Given the description of an element on the screen output the (x, y) to click on. 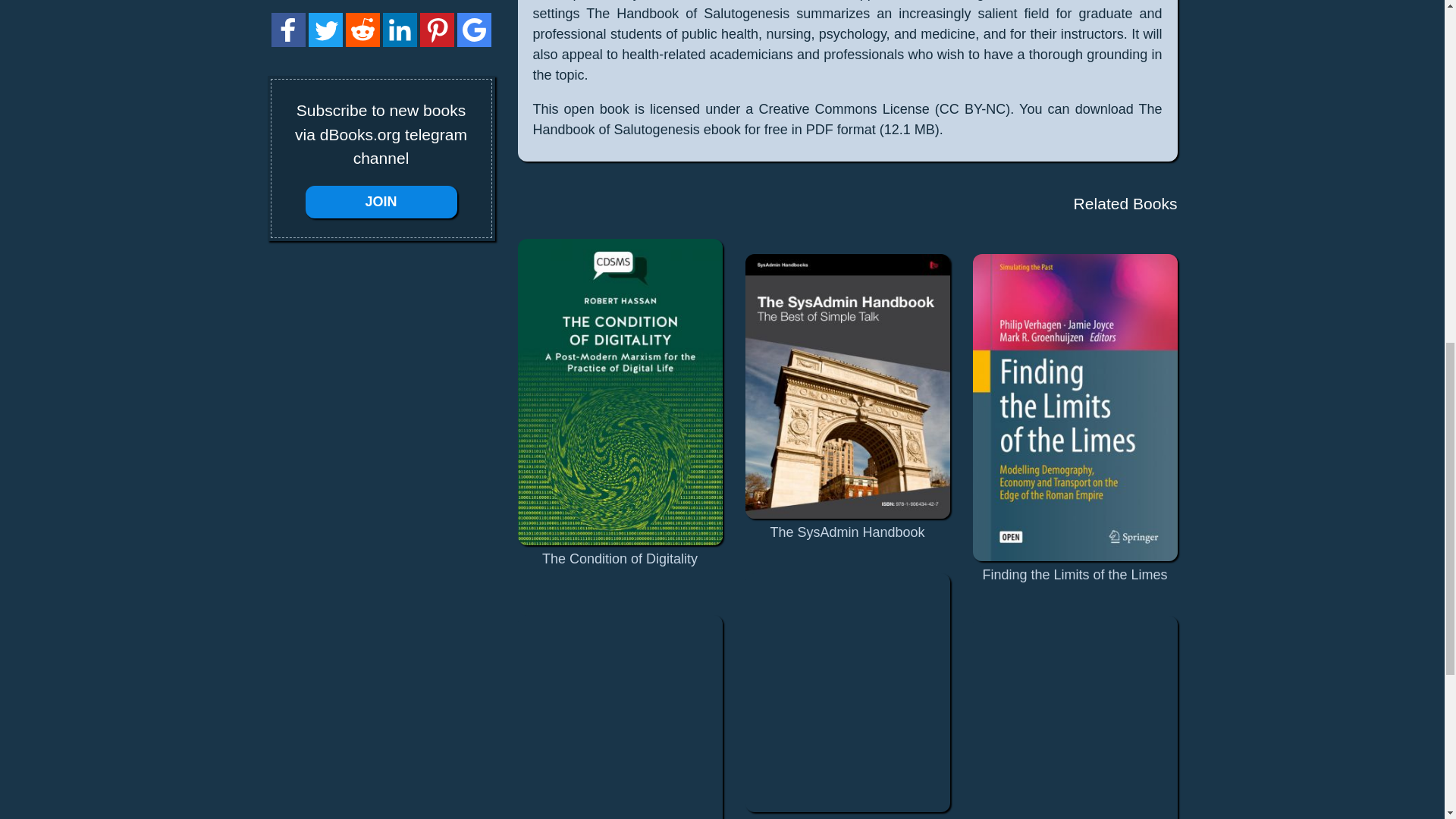
Share to Reddit (363, 29)
Add to Google Bookmarks (473, 29)
Add to Google Bookmarks (473, 42)
JOIN (380, 201)
Share to Pinterest (437, 29)
Share to Facebook (288, 42)
Share to LinkedIn (398, 42)
Share to Pinterest (437, 42)
Share to Twitter (324, 29)
Share to Reddit (362, 42)
Share to LinkedIn (398, 29)
Share to Facebook (287, 29)
Share to Twitter (324, 42)
